Given the description of an element on the screen output the (x, y) to click on. 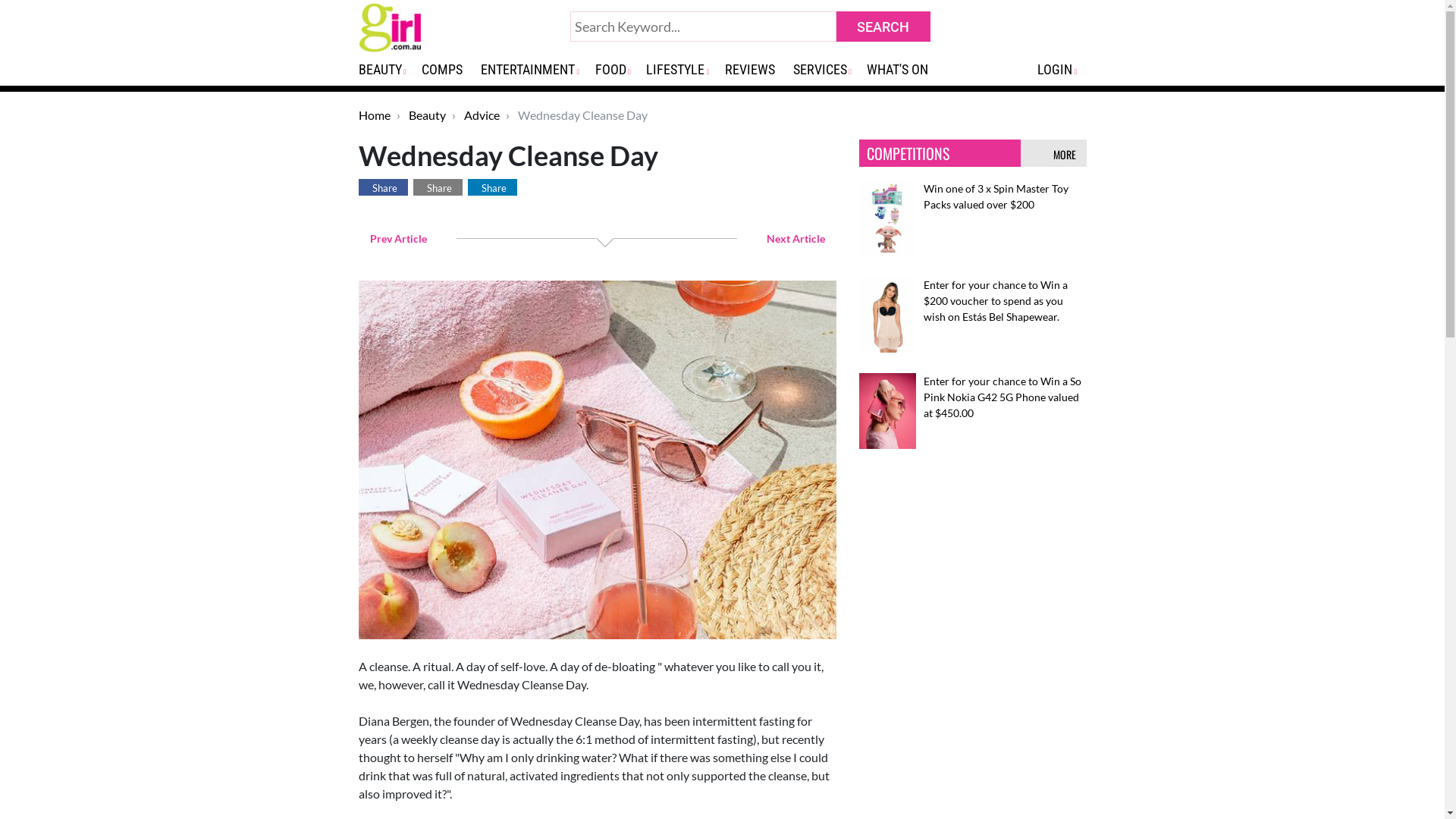
MORE   Element type: text (1065, 154)
SERVICES Element type: text (827, 69)
REVIEWS Element type: text (755, 69)
  Prev Article Element type: text (395, 238)
Advice Element type: text (481, 114)
Share Element type: text (382, 186)
ENTERTAINMENT Element type: text (534, 69)
Next Article   Element type: text (797, 238)
LIFESTYLE Element type: text (682, 69)
WHAT'S ON Element type: text (903, 69)
Share Element type: text (491, 186)
Home Element type: text (373, 114)
COMPS Element type: text (447, 69)
COMPETITIONS Element type: text (907, 152)
Win one of 3 x Spin Master Toy Packs valued over $200 Element type: text (995, 196)
Beauty Element type: text (426, 114)
SEARCH Element type: hover (882, 26)
Share Element type: text (436, 186)
SEARCH Element type: text (882, 26)
LOGIN Element type: text (1061, 69)
FOOD Element type: text (617, 69)
BEAUTY Element type: text (386, 69)
